Given the description of an element on the screen output the (x, y) to click on. 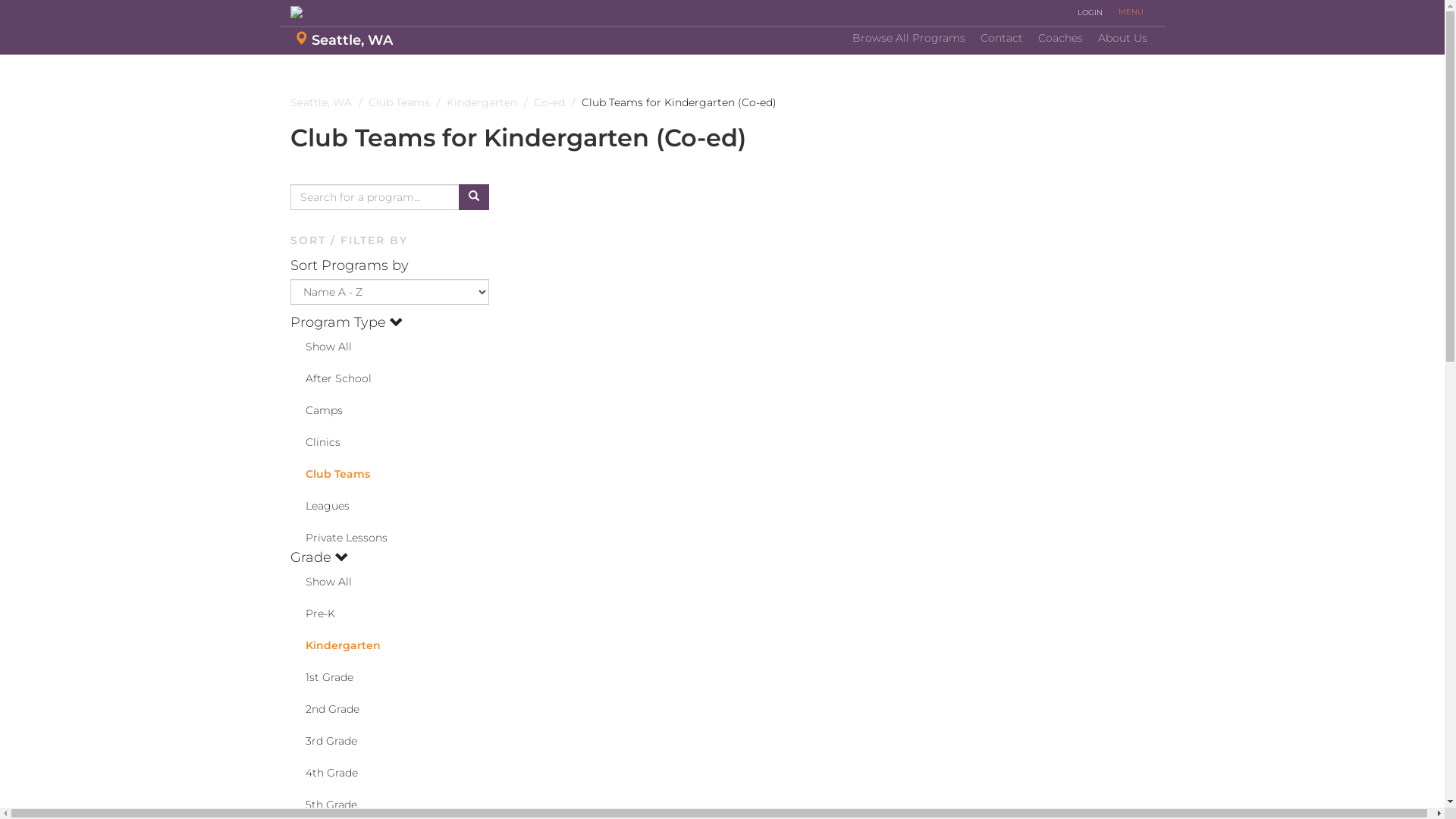
Kindergarten Element type: text (334, 644)
Pre-K Element type: text (311, 613)
After School Element type: text (329, 378)
2nd Grade Element type: text (323, 708)
5th Grade Element type: text (322, 804)
Browse All Programs Element type: text (908, 38)
Skip to main content Element type: text (0, 76)
MENU Element type: text (1130, 12)
Private Lessons Element type: text (337, 537)
LOGIN Element type: text (1089, 12)
Home Element type: hover (357, 12)
4th Grade Element type: text (323, 772)
Contact Element type: text (1000, 38)
3rd Grade Element type: text (322, 740)
Show All Element type: text (320, 581)
Camps Element type: text (315, 409)
Clinics Element type: text (314, 441)
1st Grade Element type: text (320, 676)
Seattle, WA Element type: text (343, 40)
Coaches Element type: text (1059, 38)
Show All Element type: text (320, 346)
Leagues Element type: text (318, 505)
Club Teams Element type: text (329, 473)
About Us Element type: text (1122, 38)
